Given the description of an element on the screen output the (x, y) to click on. 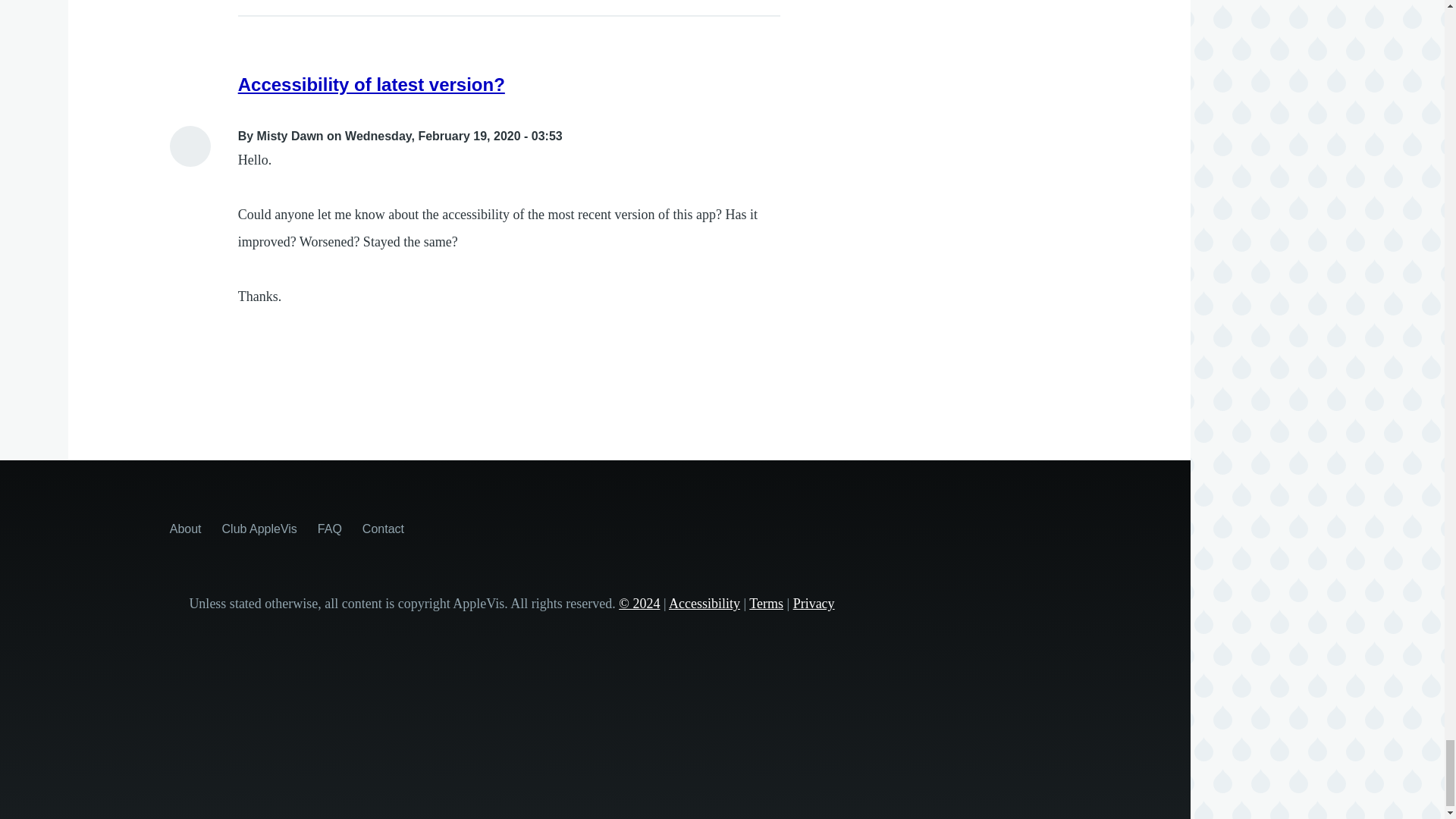
About (186, 528)
Answers to some frequently asked questions about AppleVis (329, 528)
